Given the description of an element on the screen output the (x, y) to click on. 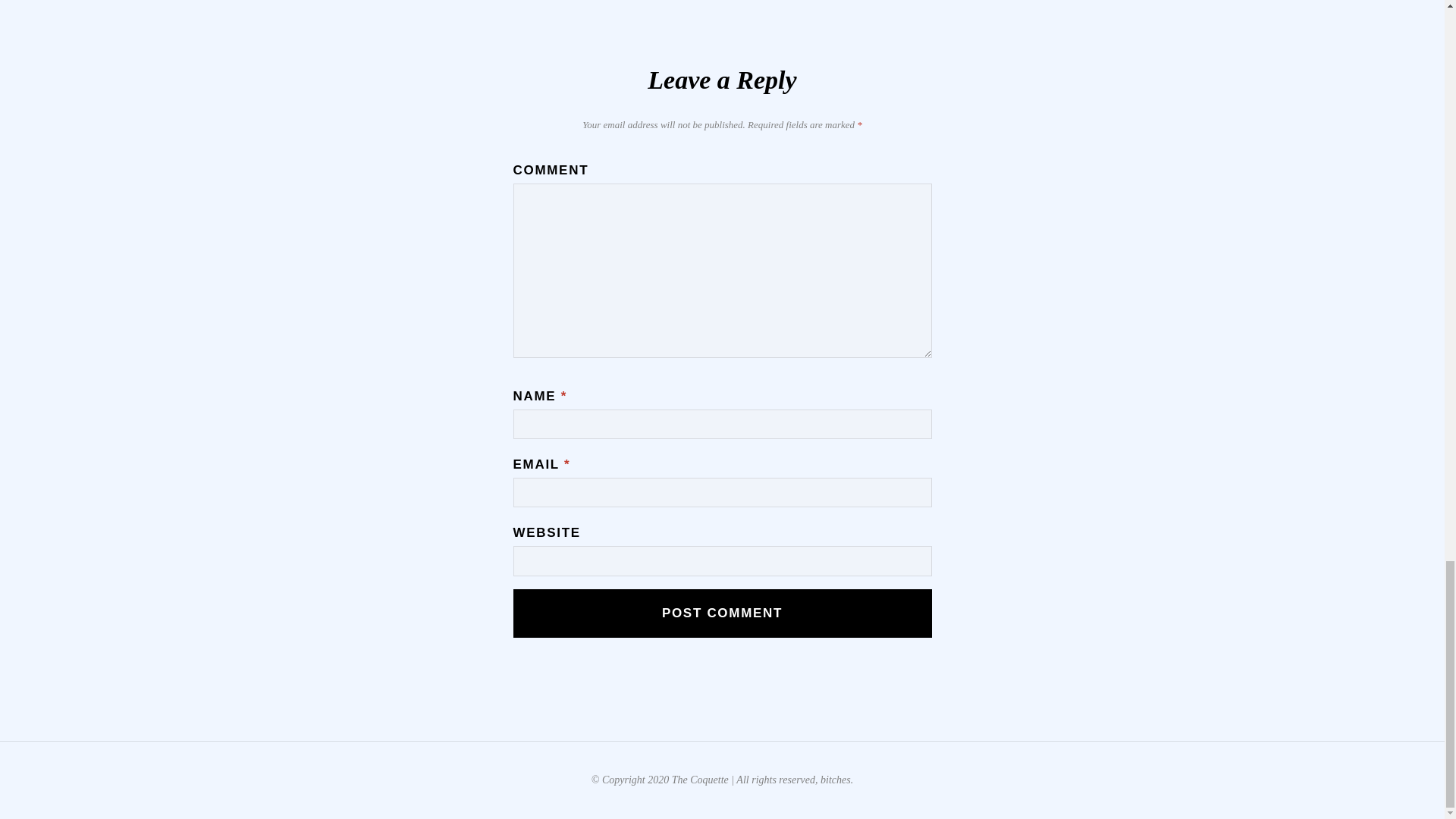
Post Comment (721, 613)
Post Comment (721, 613)
